Given the description of an element on the screen output the (x, y) to click on. 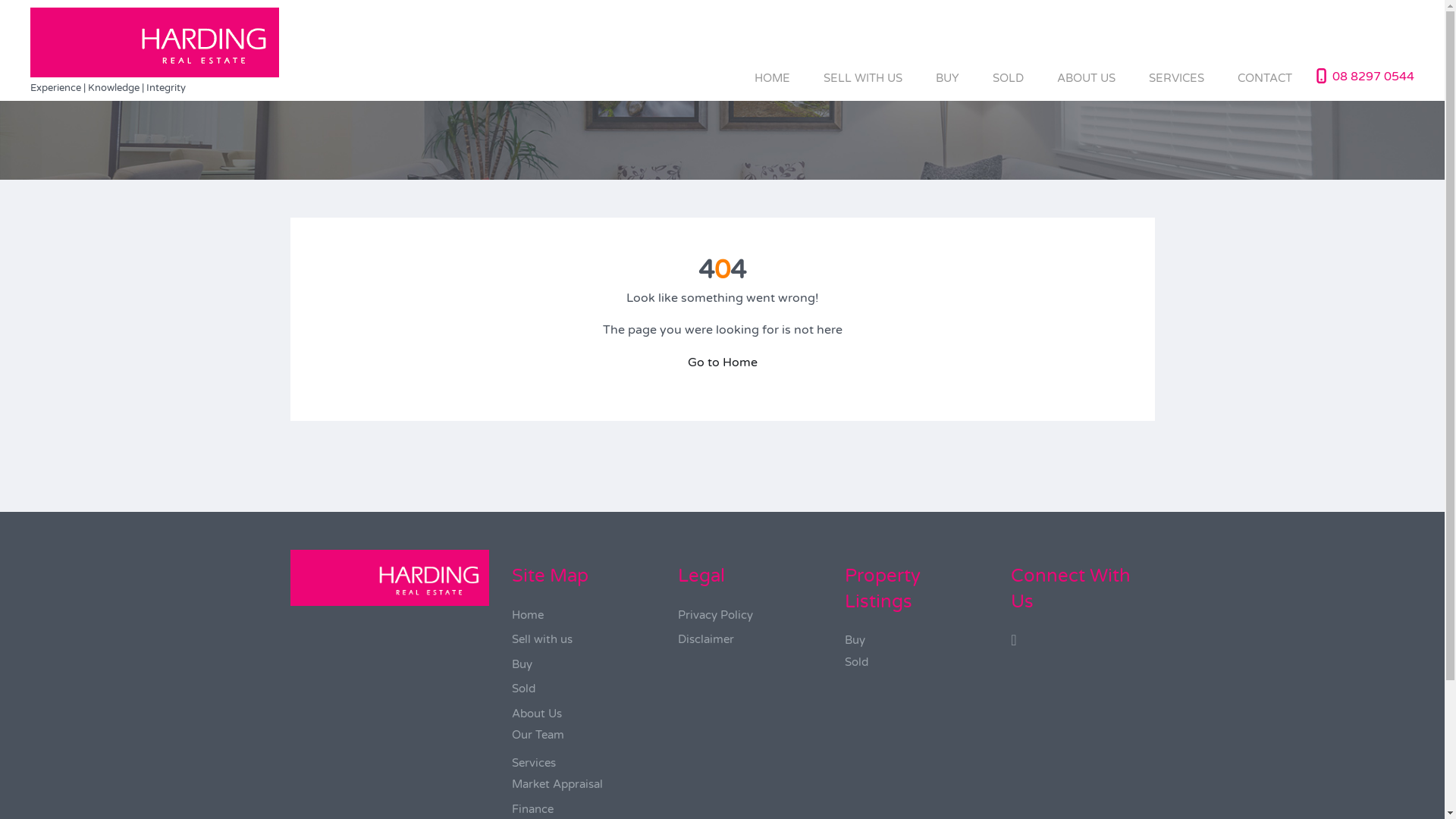
Home Element type: text (527, 614)
Sold Element type: text (523, 688)
Sold Element type: text (856, 661)
08 8297 0544 Element type: text (1373, 75)
Buy Element type: text (521, 664)
SELL WITH US Element type: text (862, 77)
Services Element type: text (533, 762)
Disclaimer Element type: text (705, 639)
HOME Element type: text (771, 77)
SERVICES Element type: text (1176, 77)
Our Team Element type: text (537, 734)
ABOUT US Element type: text (1086, 77)
Market Appraisal Element type: text (556, 783)
CONTACT Element type: text (1264, 77)
Finance Element type: text (532, 808)
About Us Element type: text (536, 713)
Privacy Policy Element type: text (715, 614)
BUY Element type: text (947, 77)
Buy Element type: text (854, 639)
SOLD Element type: text (1007, 77)
Go to Home Element type: text (721, 362)
Sell with us Element type: text (541, 639)
